Given the description of an element on the screen output the (x, y) to click on. 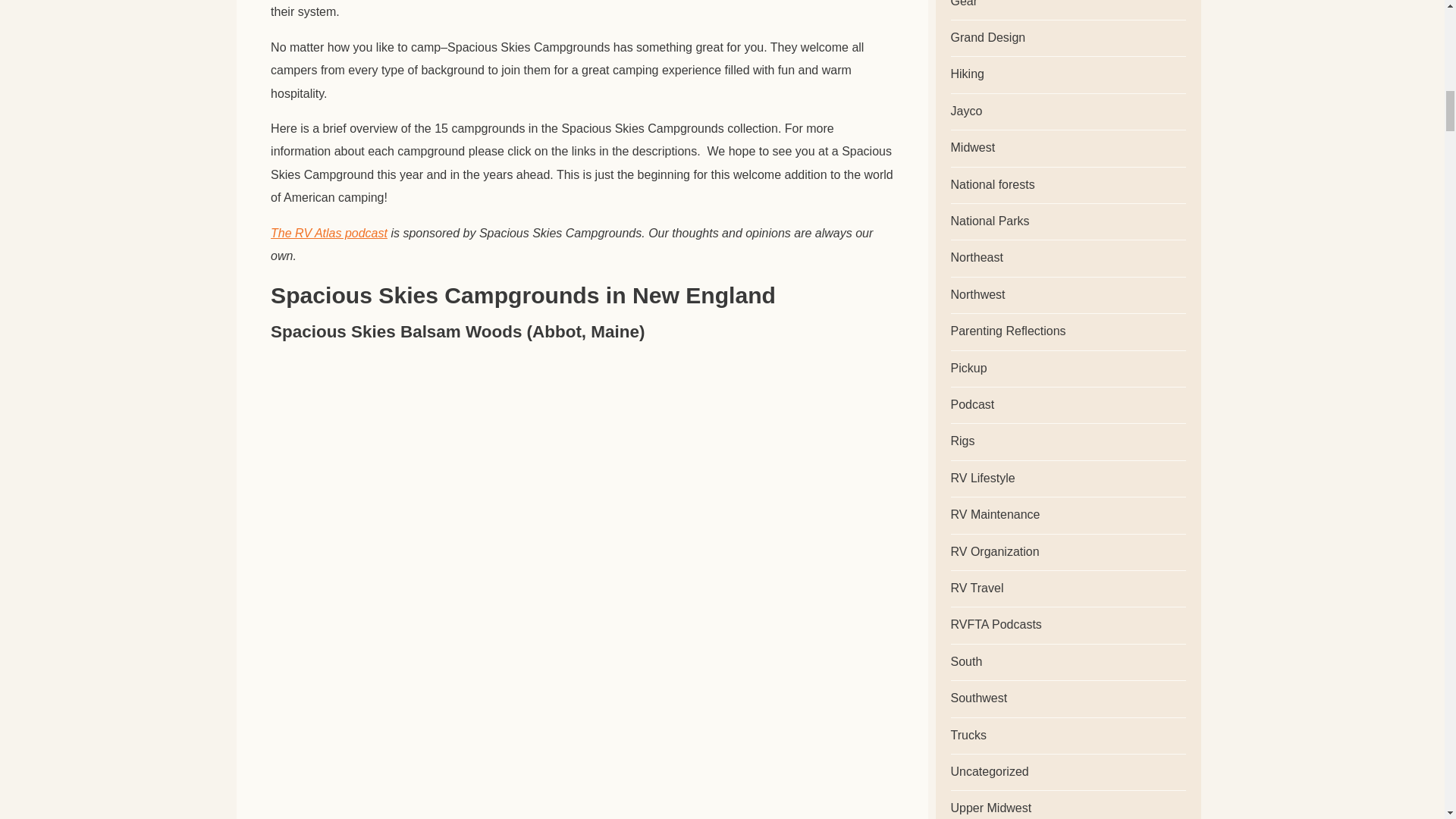
The RV Atlas podcast (328, 232)
